Given the description of an element on the screen output the (x, y) to click on. 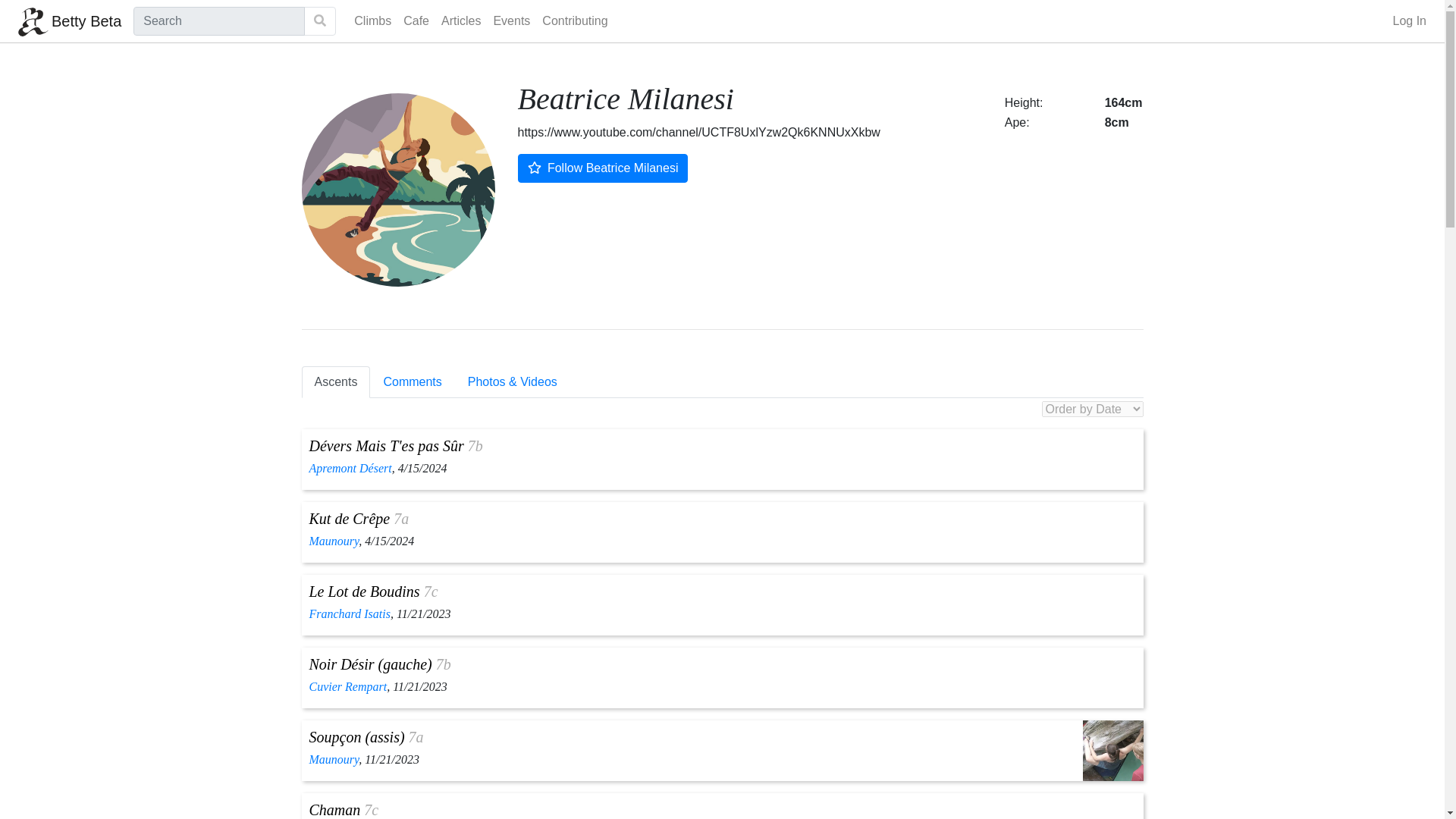
Contributing (573, 20)
Franchard Isatis (349, 613)
Maunoury (333, 758)
Le Lot de Boudins 7c (373, 591)
Log In (1408, 20)
Follow Beatrice Milanesi (601, 167)
Cafe (416, 20)
Chaman 7c (343, 809)
Search (320, 21)
Cuvier Rempart (347, 686)
Articles (460, 20)
Comments (411, 382)
Betty Beta (68, 20)
Climbs (372, 20)
Maunoury (333, 540)
